Given the description of an element on the screen output the (x, y) to click on. 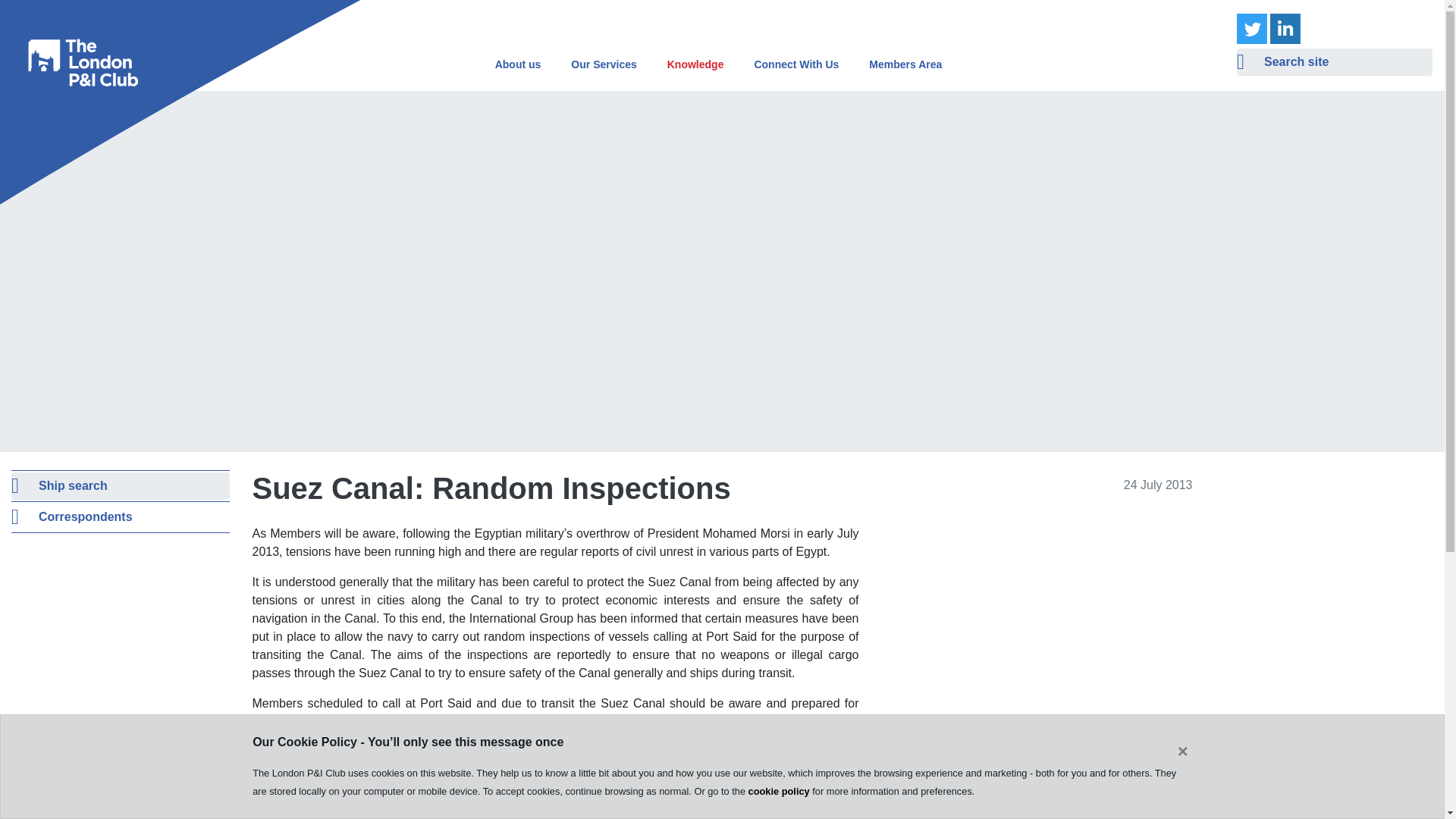
cookie policy (778, 790)
Our Services (612, 64)
Knowledge (704, 64)
About us (527, 64)
